Given the description of an element on the screen output the (x, y) to click on. 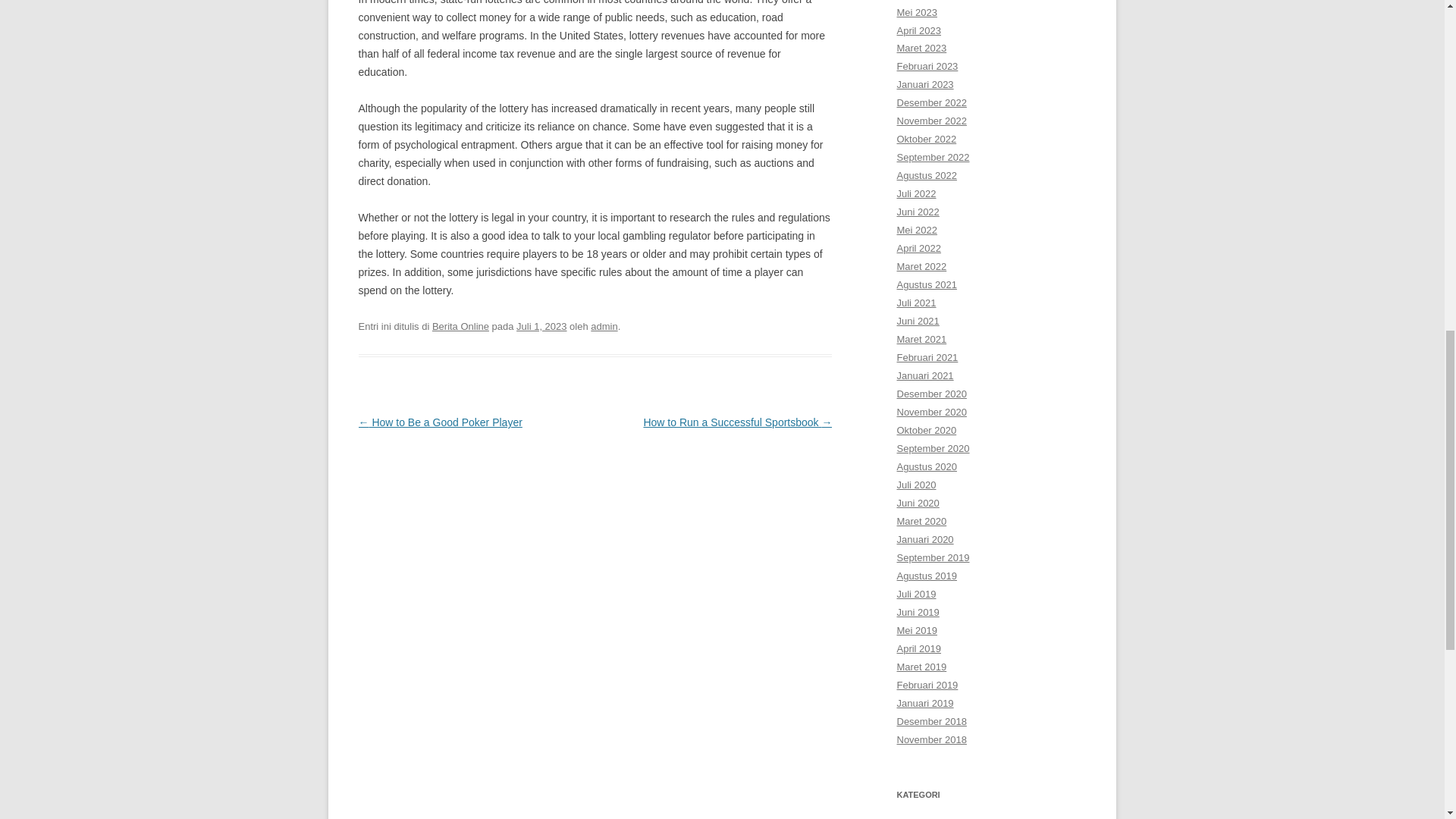
admin (604, 326)
Februari 2023 (927, 66)
Januari 2023 (924, 84)
Juli 1, 2023 (541, 326)
3:50 am (541, 326)
April 2023 (918, 30)
Oktober 2022 (926, 138)
Maret 2023 (921, 48)
Berita Online (460, 326)
Lihat semua tulisan oleh admin (604, 326)
September 2022 (932, 156)
November 2022 (931, 120)
Mei 2023 (916, 12)
Desember 2022 (931, 102)
